Given the description of an element on the screen output the (x, y) to click on. 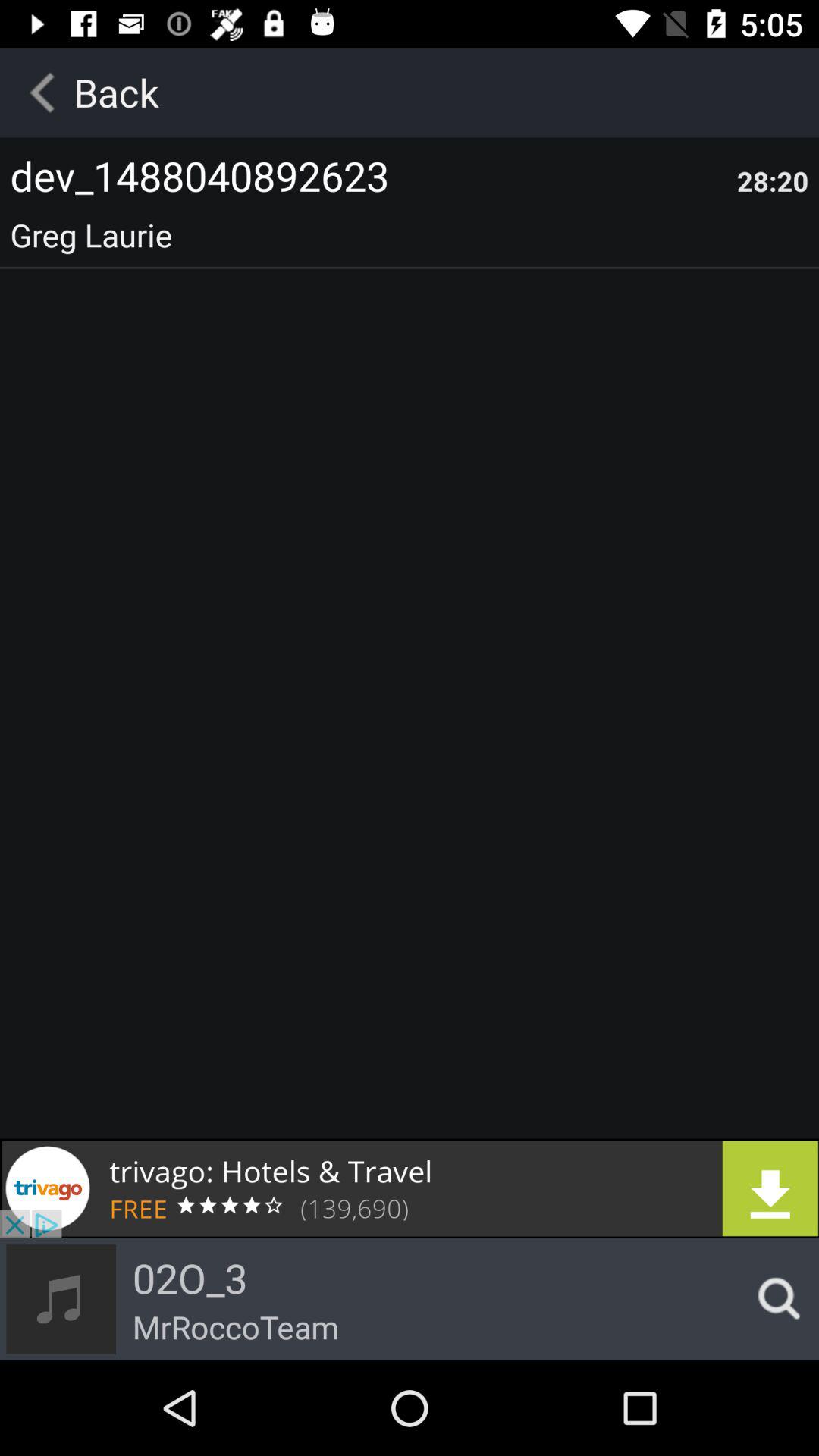
click to search music (773, 1298)
